Given the description of an element on the screen output the (x, y) to click on. 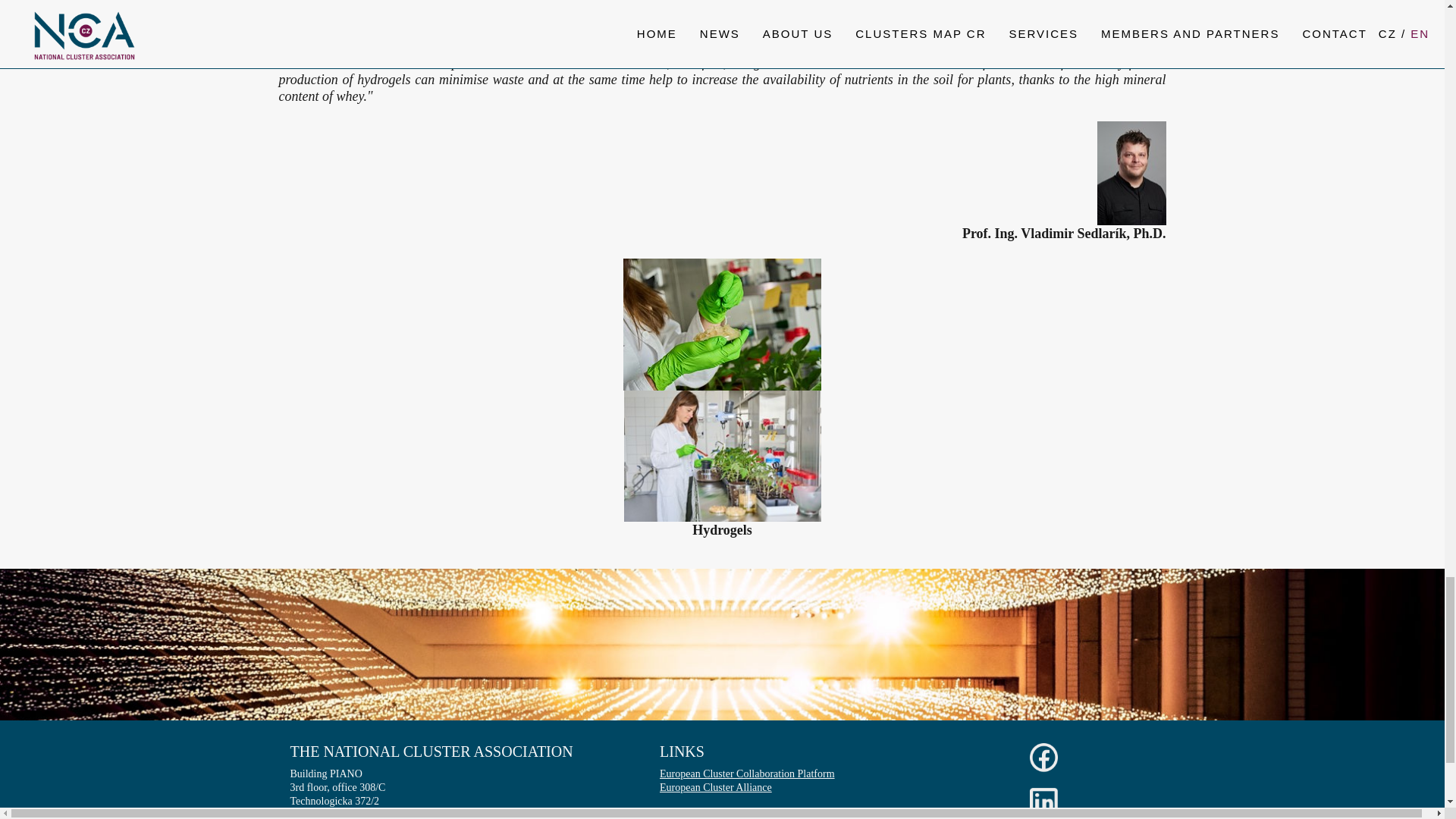
European Cluster Collaboration Platform (746, 773)
European Cluster Alliance (715, 787)
Nca Logo 2020 EN Rgb (696, 814)
LOGO download (696, 814)
